Given the description of an element on the screen output the (x, y) to click on. 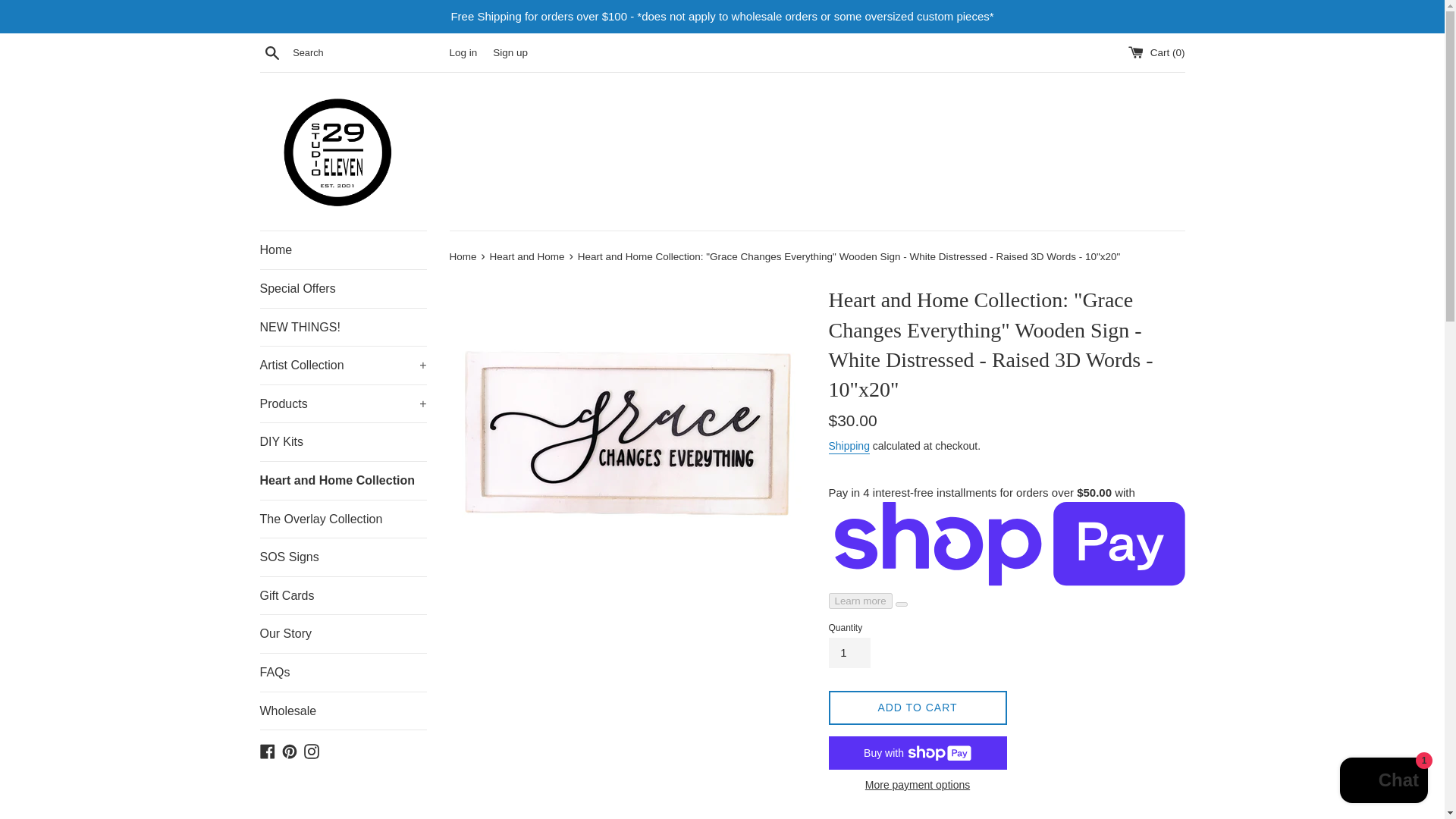
1 (848, 653)
Shopify online store chat (1383, 781)
NEW THINGS! (342, 327)
Sign up (510, 52)
Search (271, 52)
Back to the frontpage (463, 256)
Log in (462, 52)
Home (342, 249)
Studio 29 Eleven on Facebook (267, 749)
Special Offers (342, 288)
Studio 29 Eleven on Instagram (311, 749)
Studio 29 Eleven on Pinterest (289, 749)
